Given the description of an element on the screen output the (x, y) to click on. 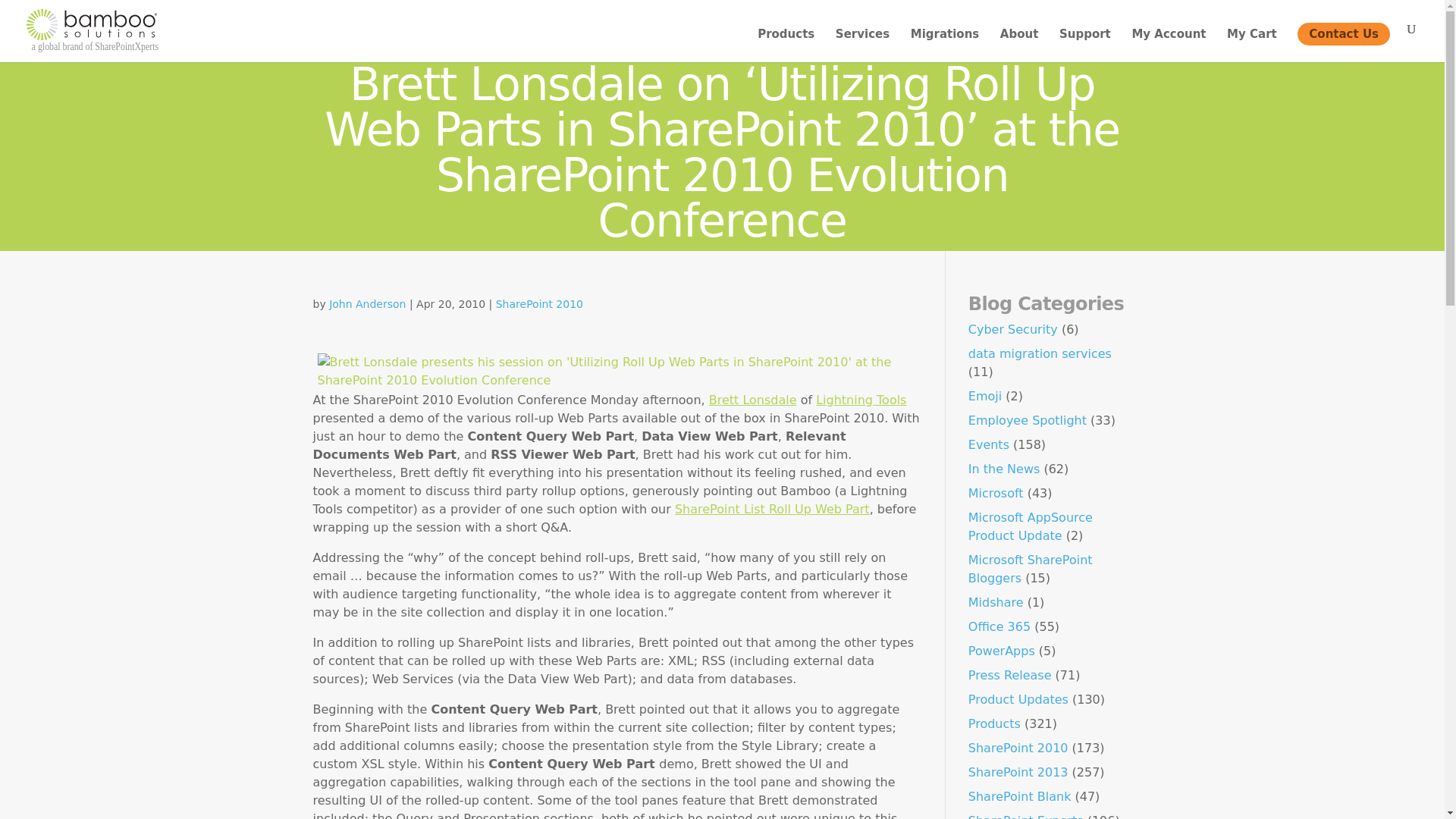
Posts by John Anderson (367, 304)
Products (785, 45)
Migrations (945, 45)
Services (862, 45)
